Given the description of an element on the screen output the (x, y) to click on. 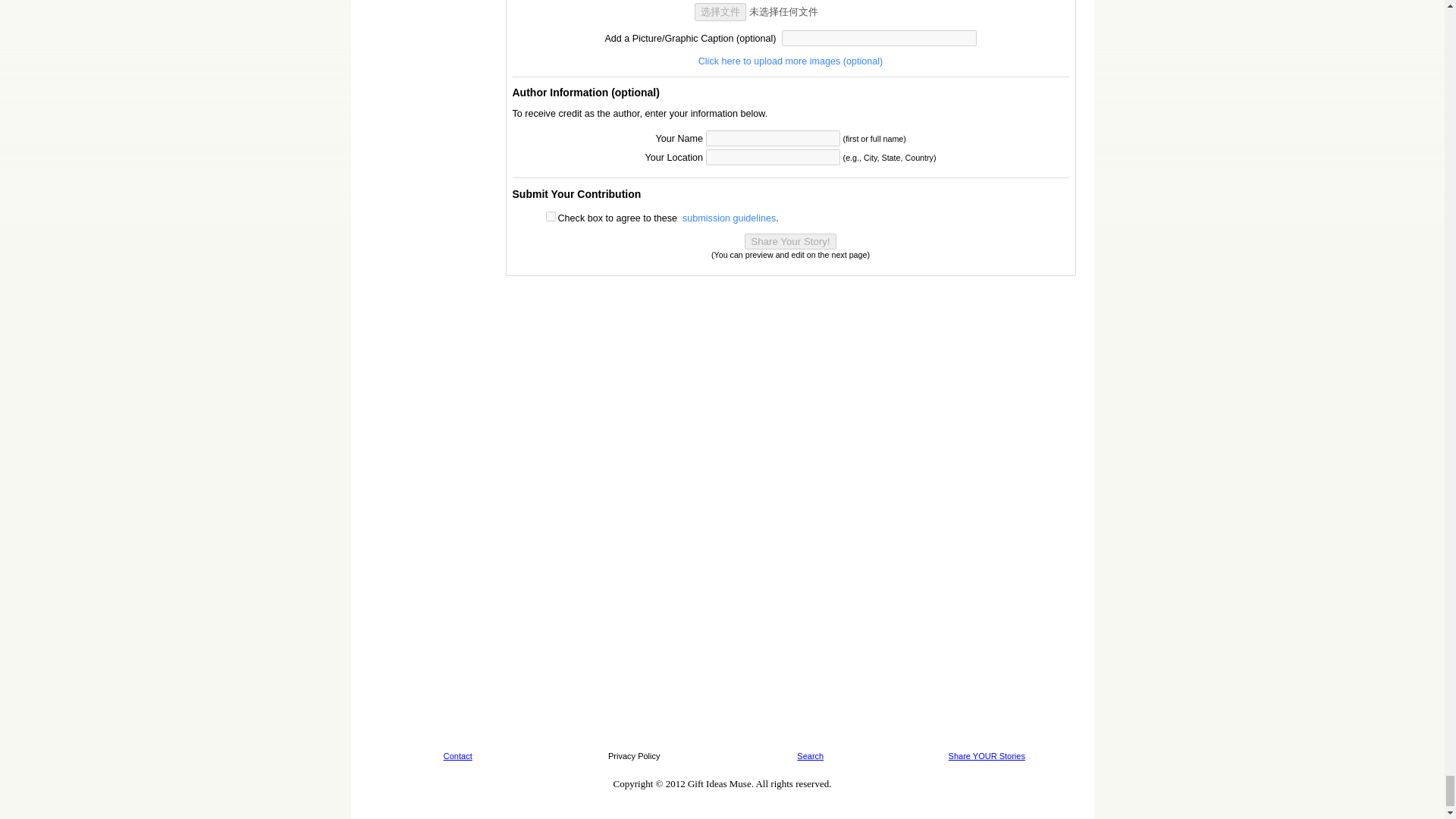
submission guidelines (729, 217)
checkbox (551, 216)
Share Your Story! (789, 241)
Share Your Story! (789, 241)
